Given the description of an element on the screen output the (x, y) to click on. 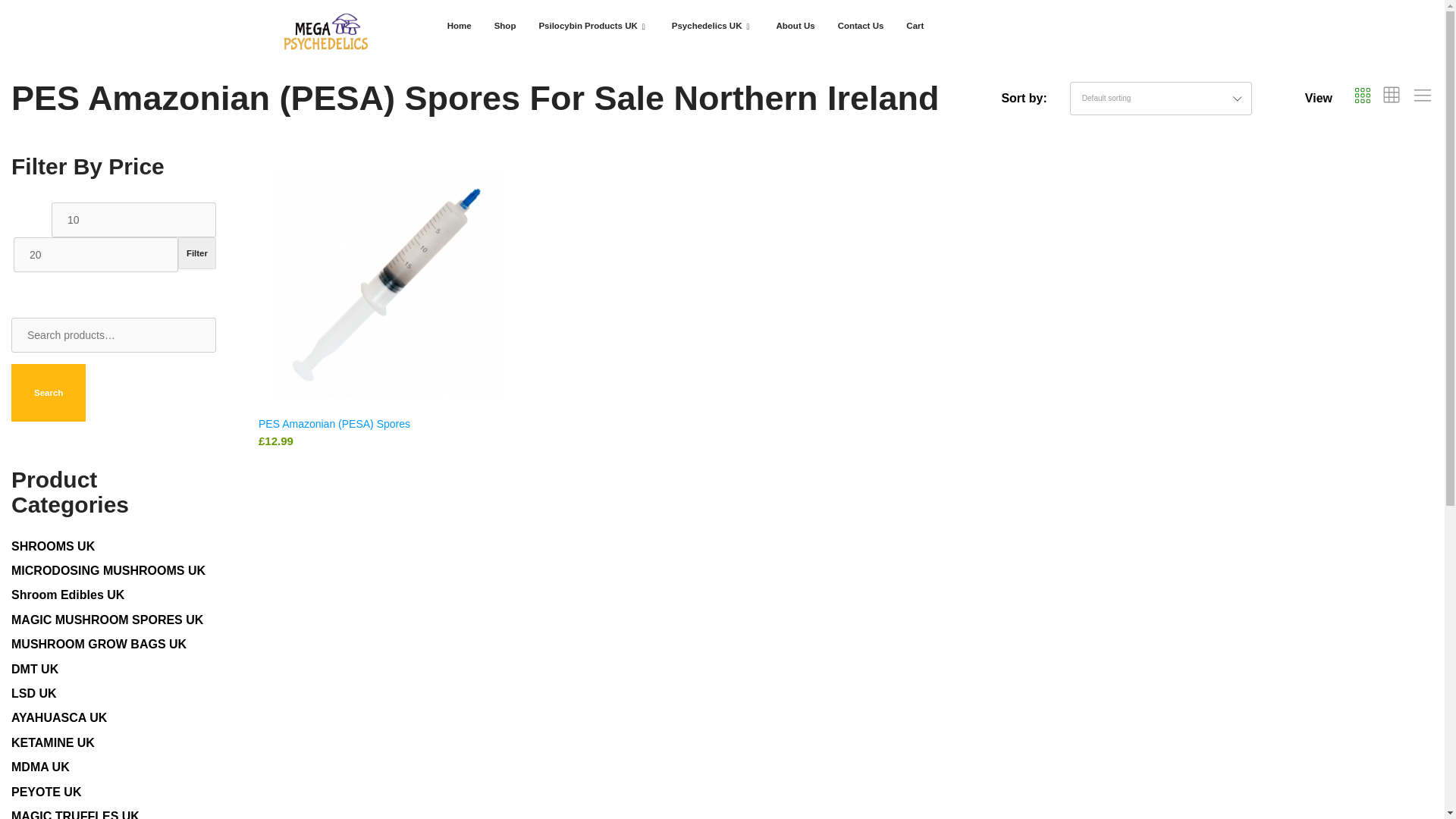
About Us (796, 26)
Cart (914, 26)
20 (95, 253)
Psychedelics UK (713, 26)
Contact Us (861, 26)
Default sorting (1249, 173)
10 (132, 218)
Home (459, 26)
Shop (505, 26)
Psilocybin Products UK (593, 26)
